Given the description of an element on the screen output the (x, y) to click on. 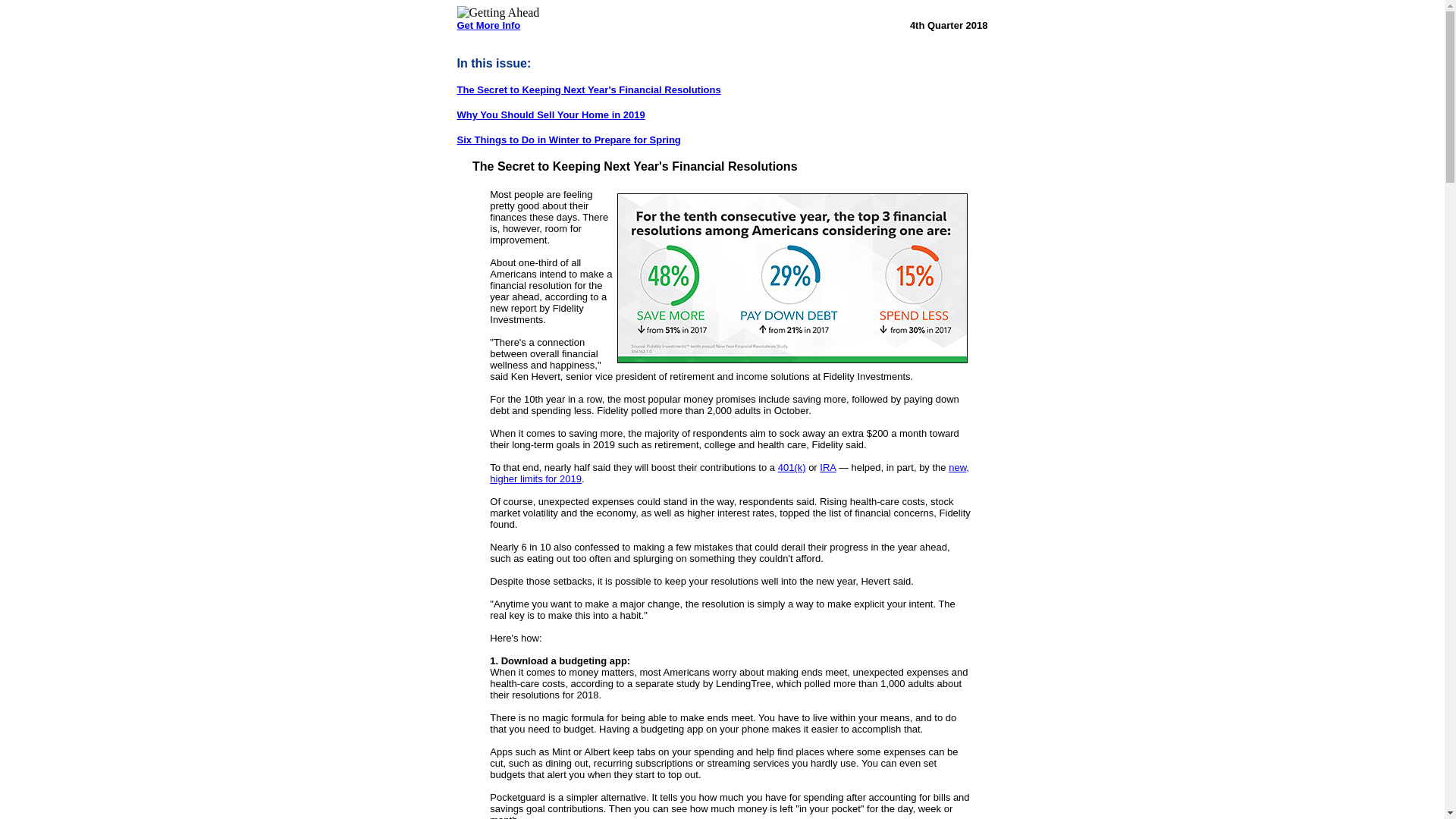
Get More Info (488, 25)
Resolutions (792, 278)
new, higher limits for 2019 (729, 472)
Six Things to Do in Winter to Prepare for Spring (568, 139)
IRA (827, 467)
The Secret to Keeping Next Year's Financial Resolutions (588, 89)
Why You Should Sell Your Home in 2019 (551, 114)
